Given the description of an element on the screen output the (x, y) to click on. 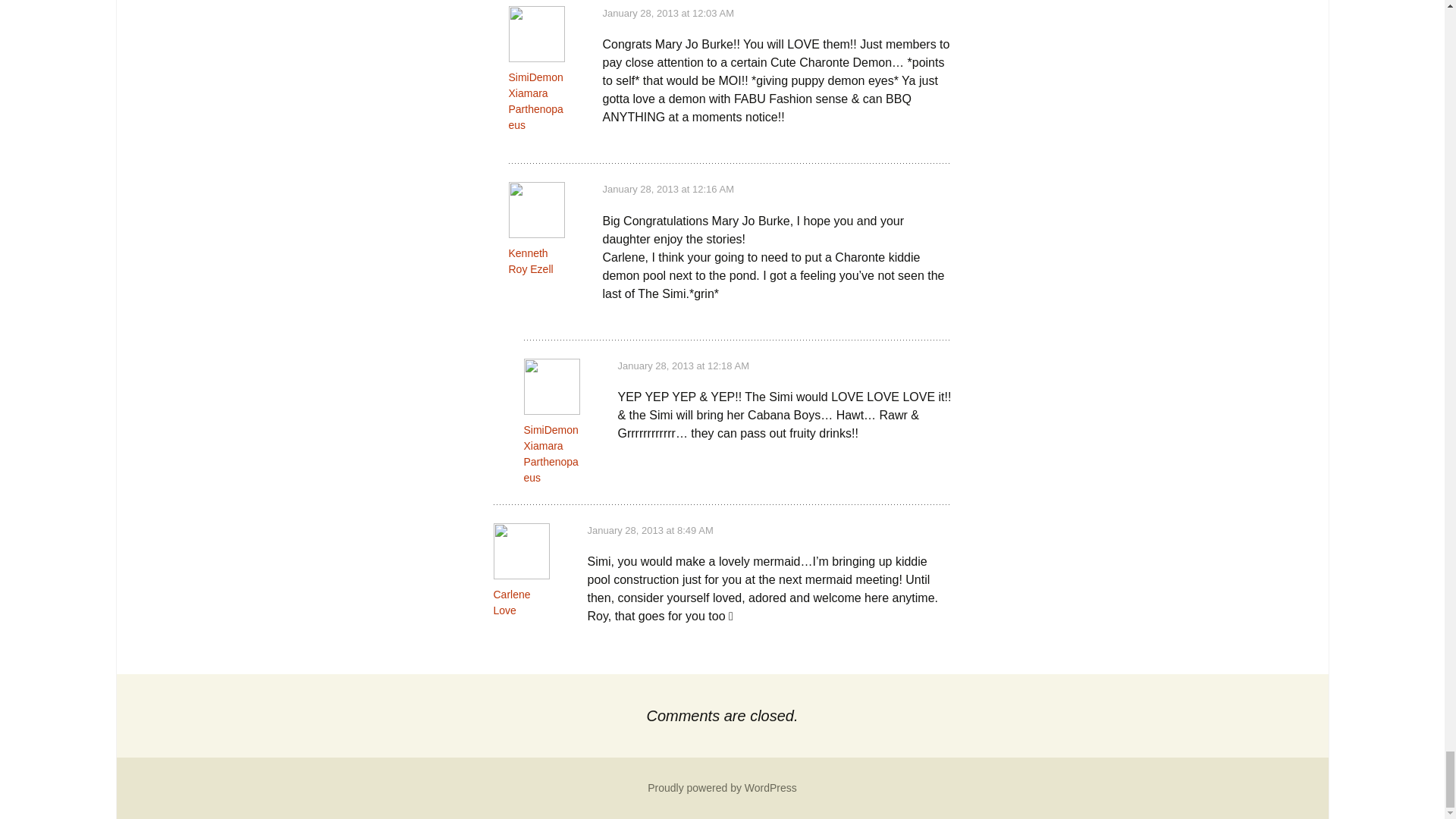
Semantic Personal Publishing Platform (721, 787)
